Given the description of an element on the screen output the (x, y) to click on. 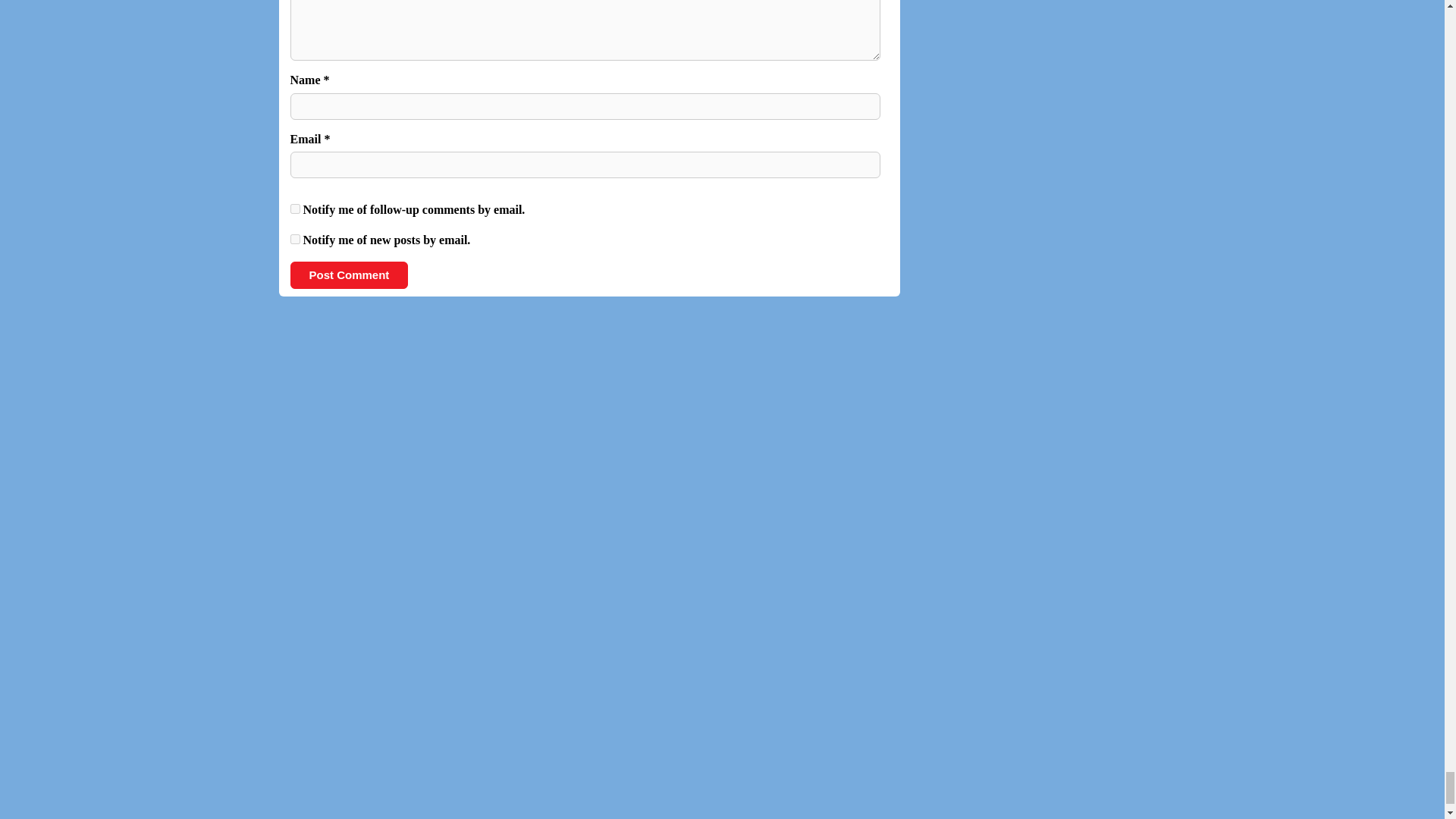
subscribe (294, 208)
subscribe (294, 239)
Post Comment (348, 274)
